Given the description of an element on the screen output the (x, y) to click on. 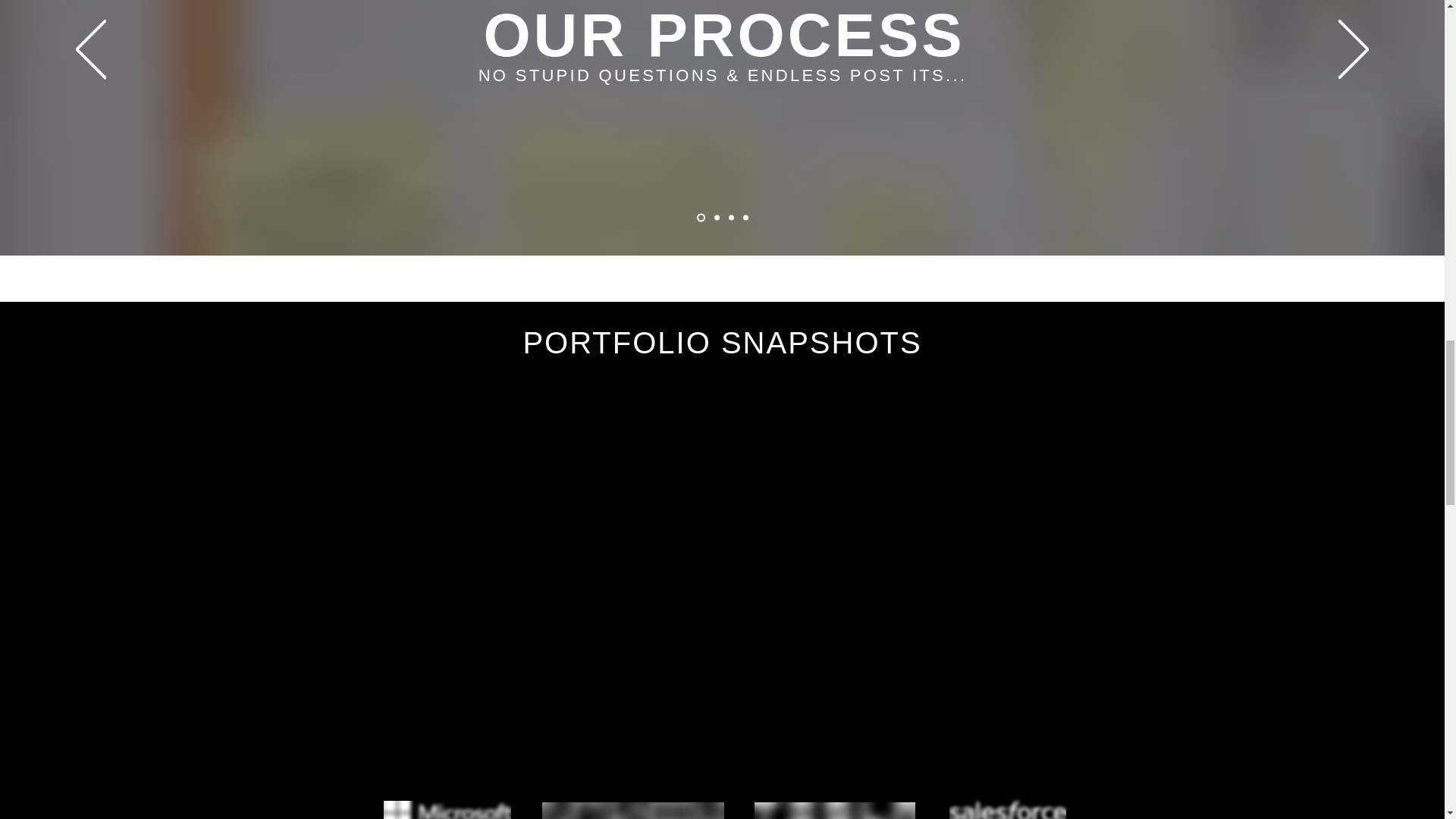
Microsoft (447, 809)
